Given the description of an element on the screen output the (x, y) to click on. 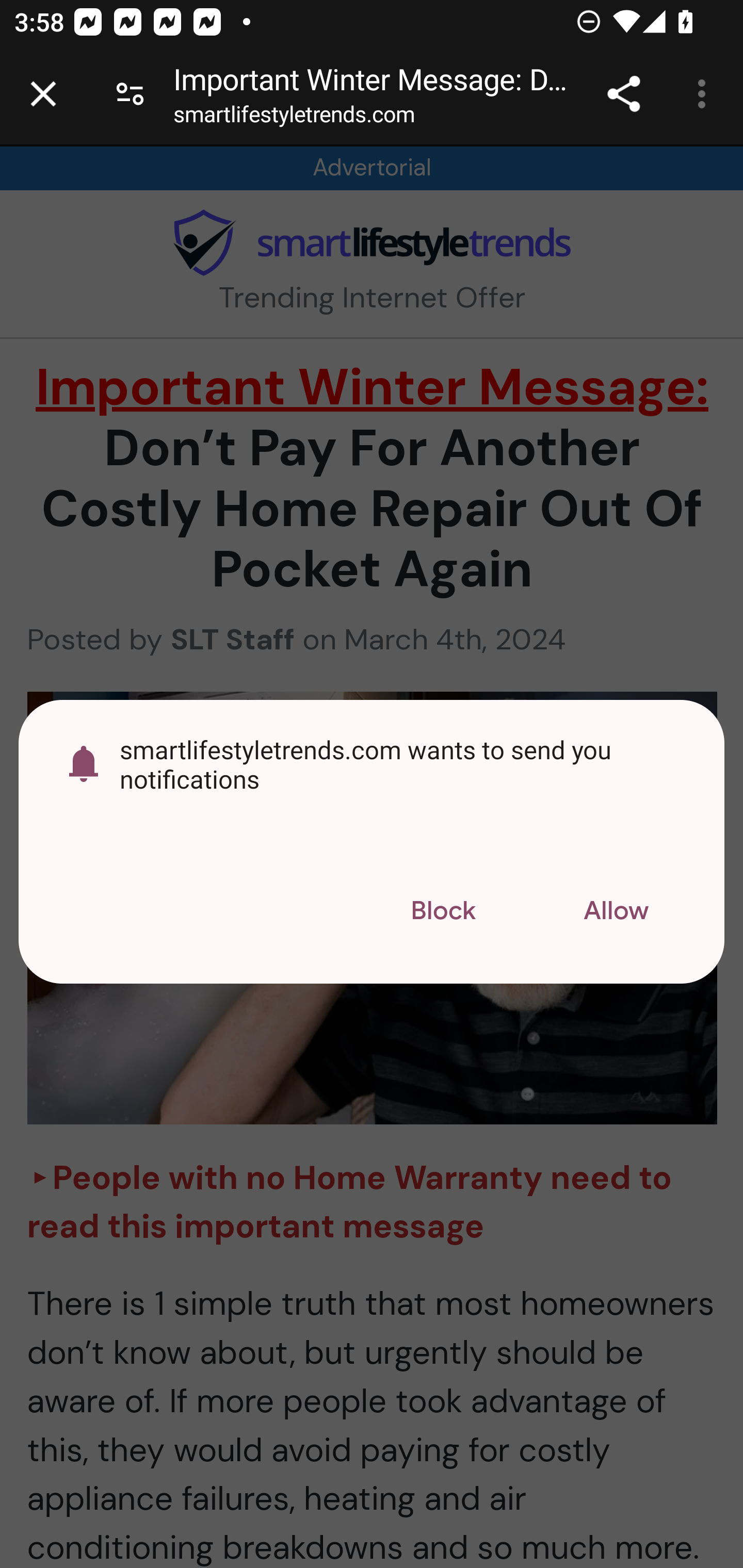
Close tab (43, 93)
Share link address (623, 93)
Customize and control Google Chrome (705, 93)
Connection is secure (129, 93)
smartlifestyletrends.com (294, 117)
Block (442, 911)
Allow (615, 911)
